Given the description of an element on the screen output the (x, y) to click on. 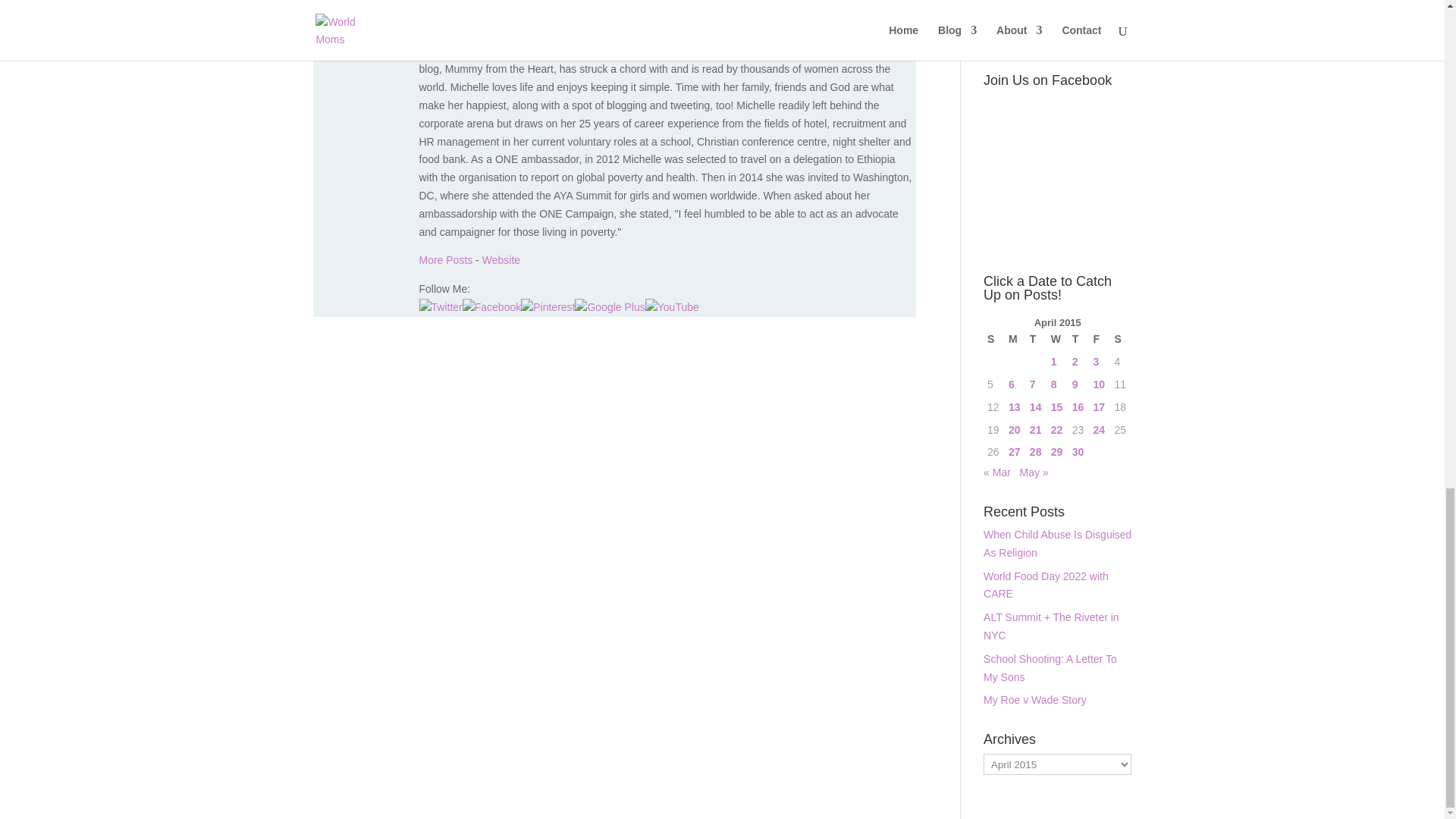
Michelle Pannell (479, 9)
Friday (1099, 339)
Thursday (1078, 339)
Monday (1015, 339)
More posts by Michelle Pannell (445, 259)
Michelle Pannell (479, 9)
Wednesday (1057, 339)
More Posts (445, 259)
Michelle Pannell (500, 259)
Sunday (994, 339)
Website (500, 259)
Saturday (1120, 339)
Tuesday (1036, 339)
